Given the description of an element on the screen output the (x, y) to click on. 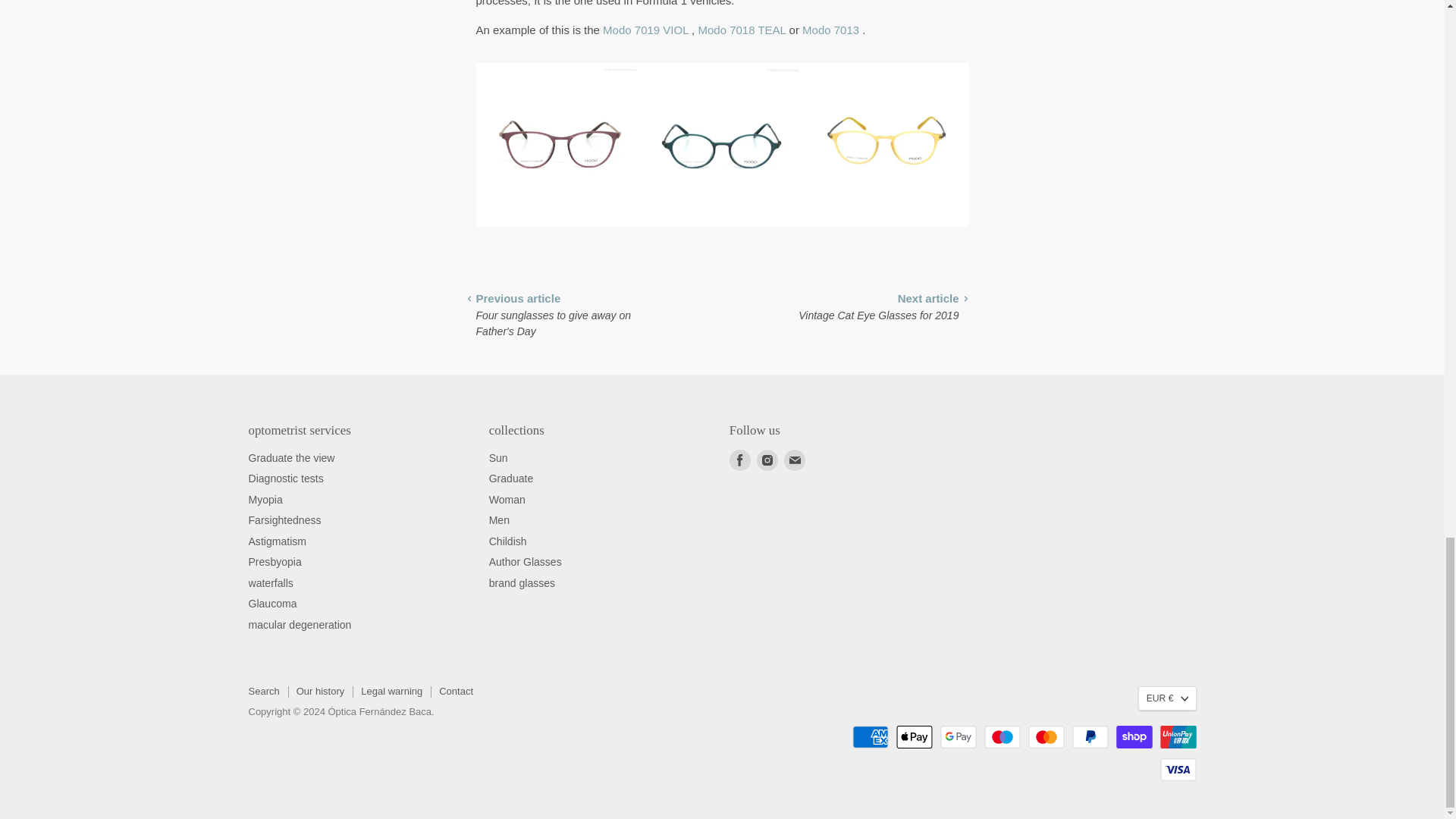
ecological glasses mode teal optics fernandez baca author (741, 29)
Google Pay (958, 736)
ecological glasses mode 7013 optica fernandez baca author (830, 29)
E-mail (794, 460)
Instagram (767, 460)
Facebook (740, 460)
PayPal (1089, 736)
American Express (869, 736)
ecological sunglasses viol mode fernandez optics baca author (645, 29)
Maestro (1002, 736)
